Given the description of an element on the screen output the (x, y) to click on. 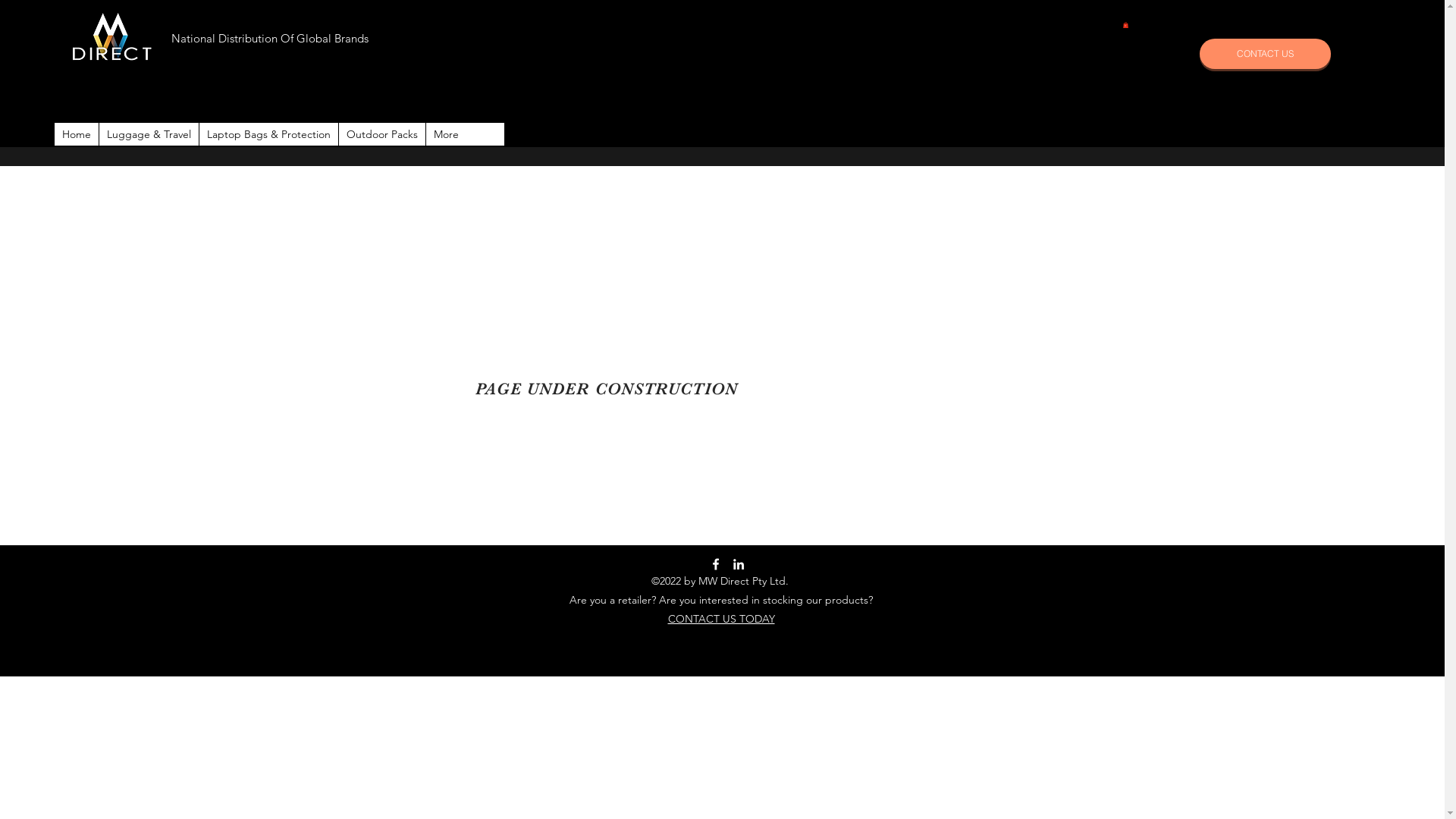
Home Element type: text (76, 133)
Laptop Bags & Protection Element type: text (268, 133)
Outdoor Packs Element type: text (381, 133)
CONTACT US Element type: text (1264, 53)
CONTACT US TODAY Element type: text (720, 618)
0 Element type: text (1125, 24)
Luggage & Travel Element type: text (148, 133)
